Given the description of an element on the screen output the (x, y) to click on. 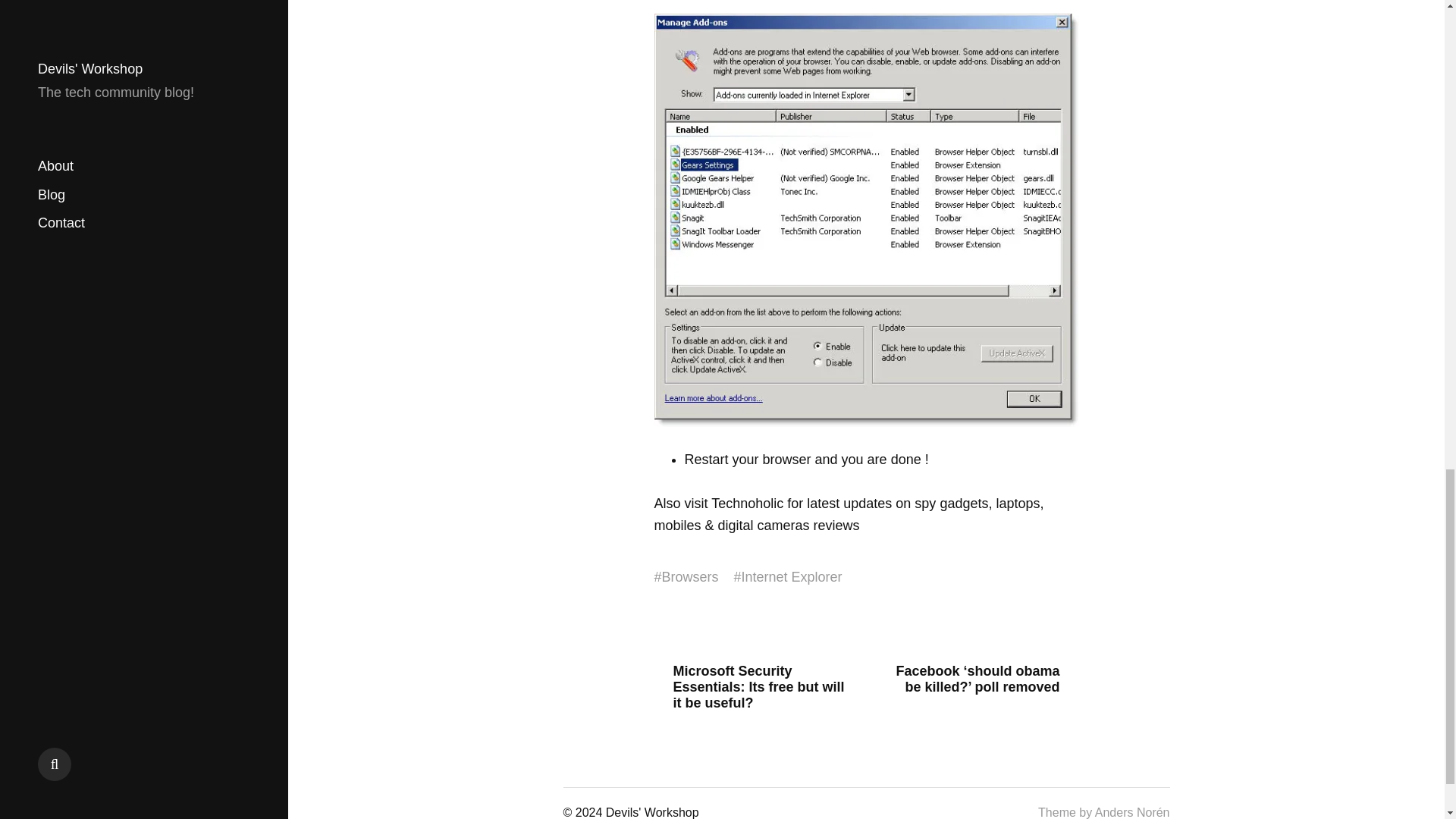
Internet Explorer (792, 577)
Browsers (690, 577)
